Given the description of an element on the screen output the (x, y) to click on. 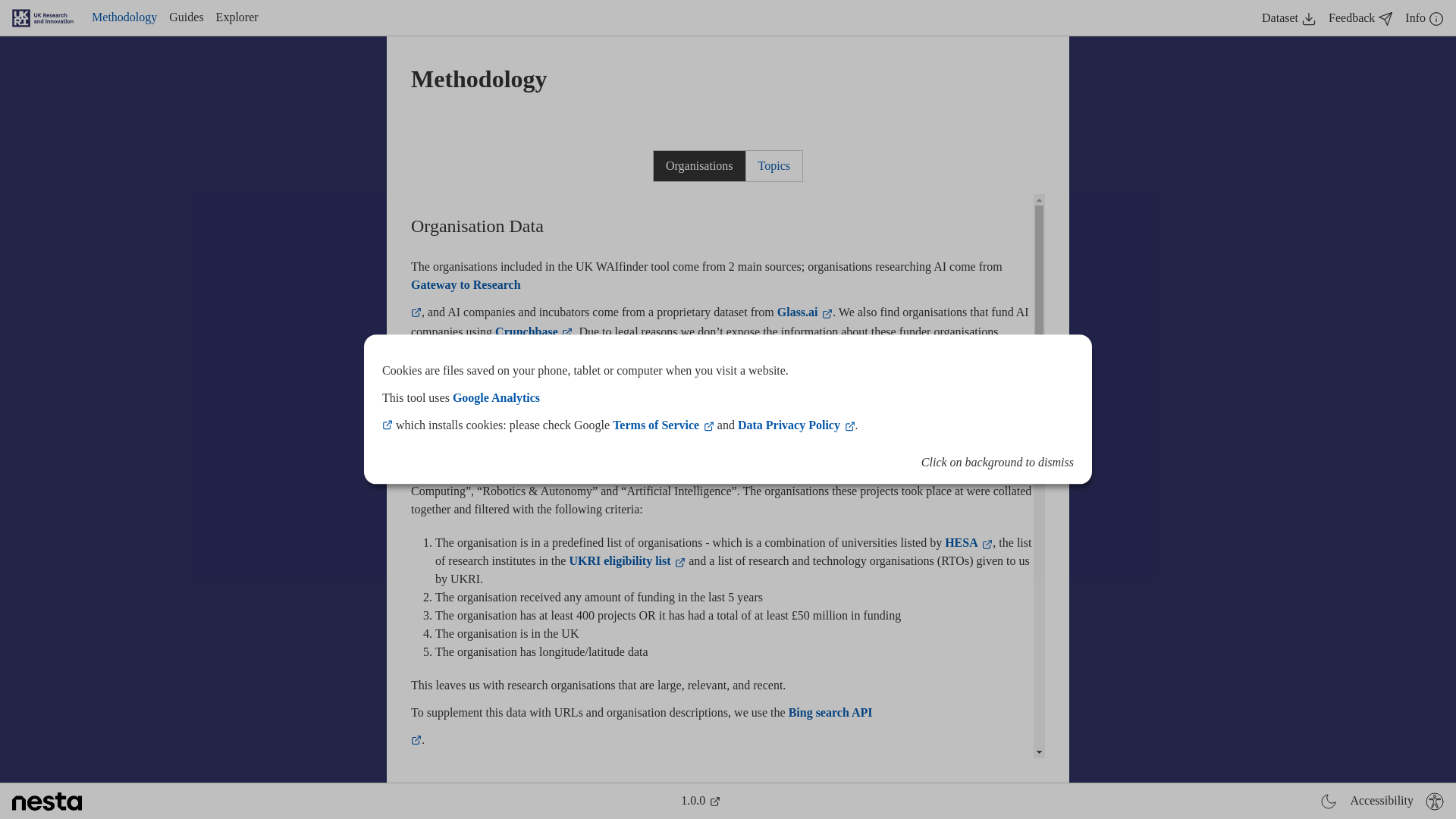
Organisations (699, 165)
Explorer (237, 16)
Feedback (1360, 16)
Guides (185, 16)
Methodology (124, 16)
Bing search API (831, 712)
HESA (968, 542)
Terms of Service (663, 424)
Bing search API (862, 349)
UKRI eligibility list (627, 560)
